Given the description of an element on the screen output the (x, y) to click on. 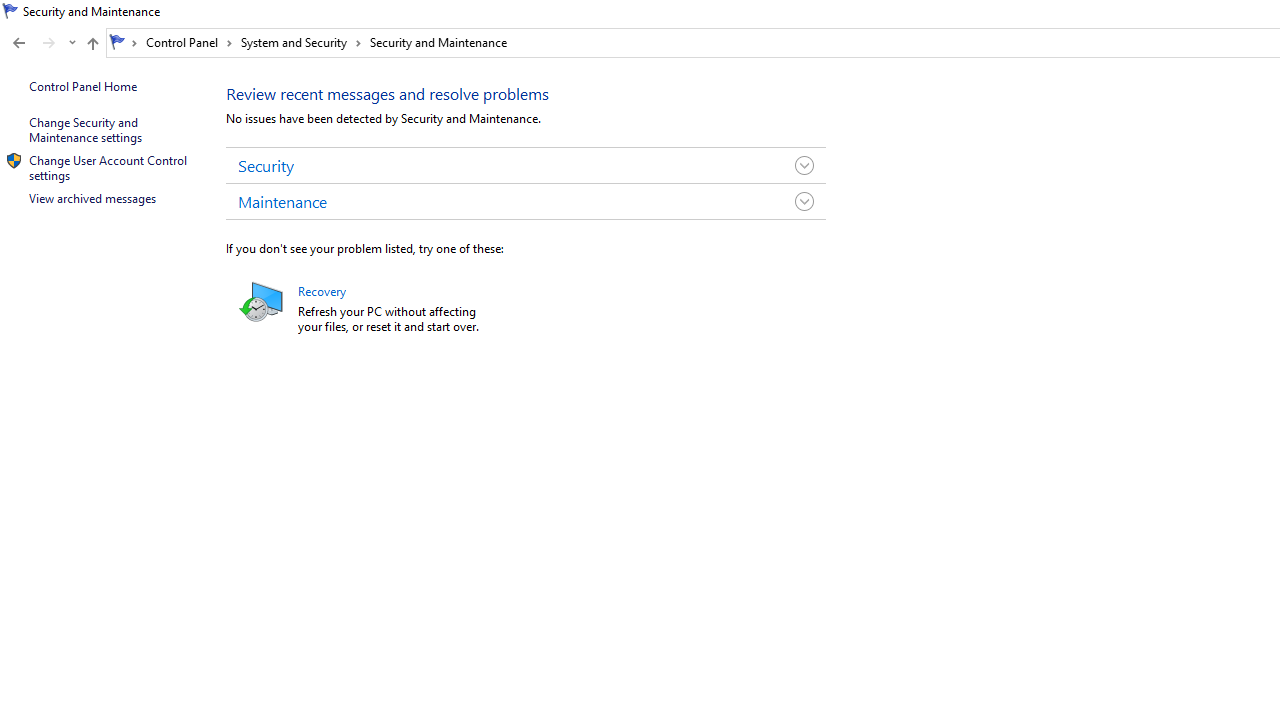
View archived messages (91, 197)
Security (525, 164)
Review recent messages and resolve problems (387, 92)
Forward (Alt + Right Arrow) (49, 43)
Recovery (261, 300)
System (10, 11)
Change Security and Maintenance settings (84, 129)
All locations (124, 42)
Back to System and Security (Alt + Left Arrow) (18, 43)
